Given the description of an element on the screen output the (x, y) to click on. 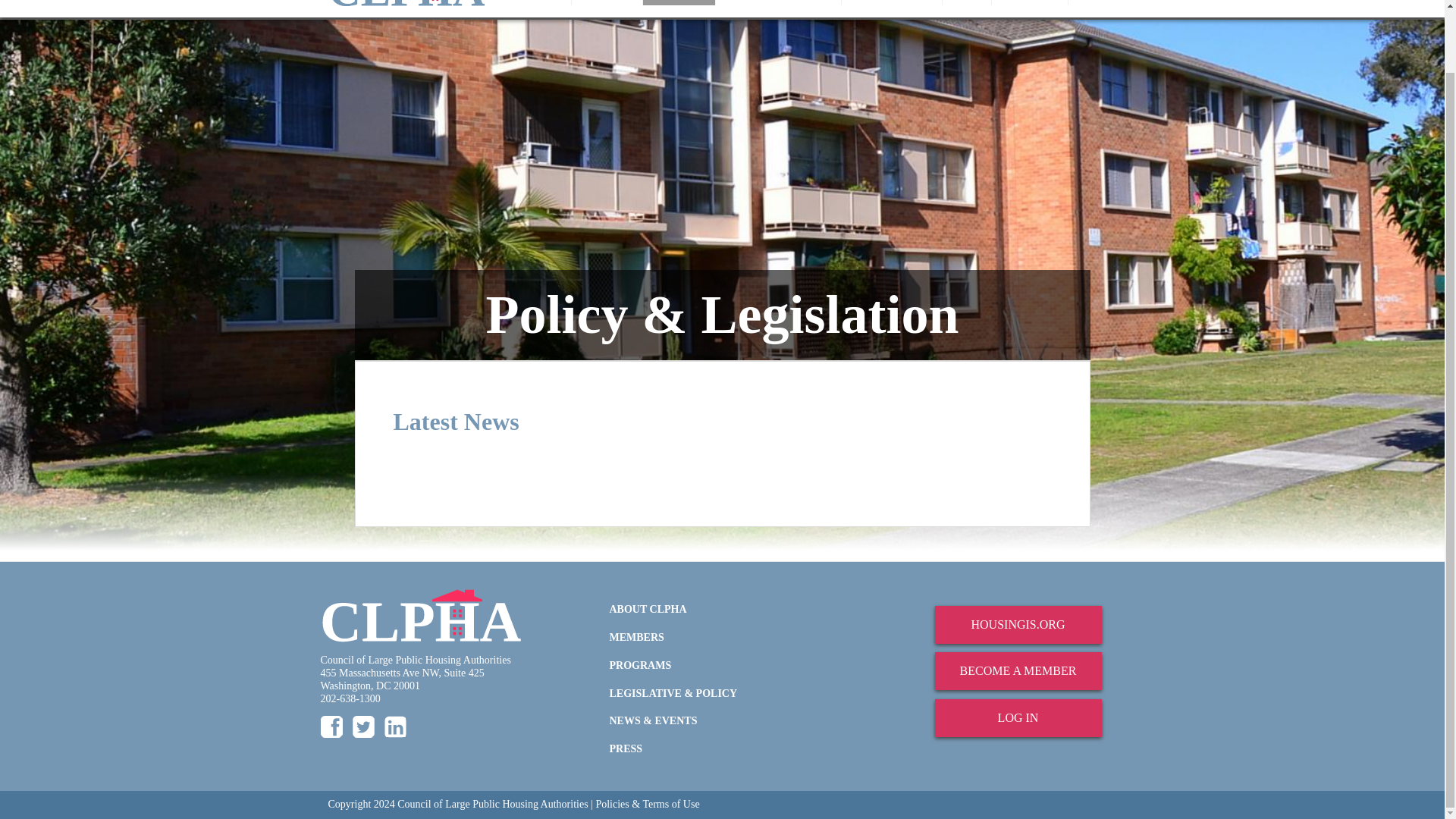
Search (1087, 2)
Home (406, 2)
